Given the description of an element on the screen output the (x, y) to click on. 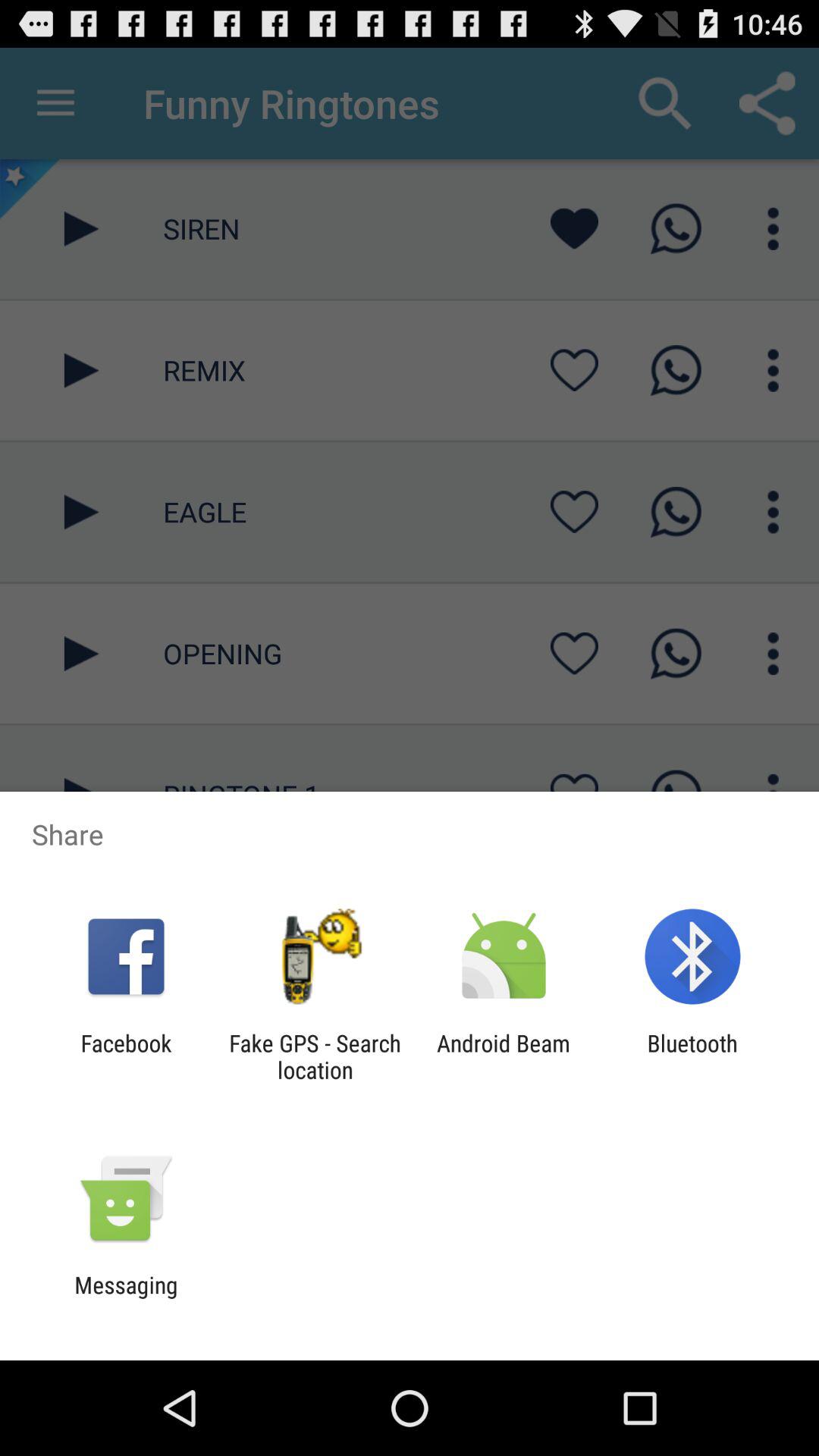
scroll to facebook icon (125, 1056)
